Given the description of an element on the screen output the (x, y) to click on. 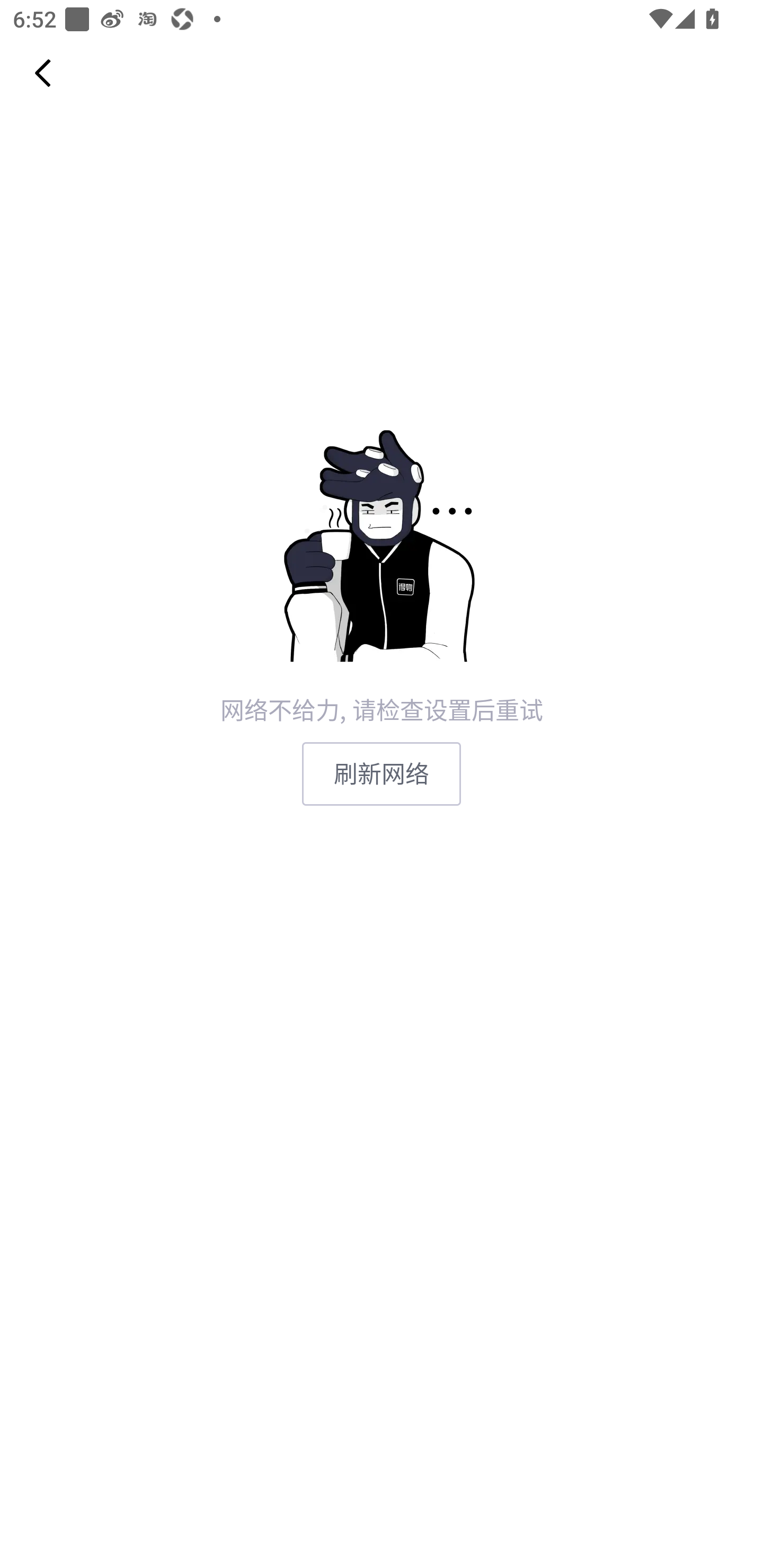
刷新网络 (381, 773)
